Given the description of an element on the screen output the (x, y) to click on. 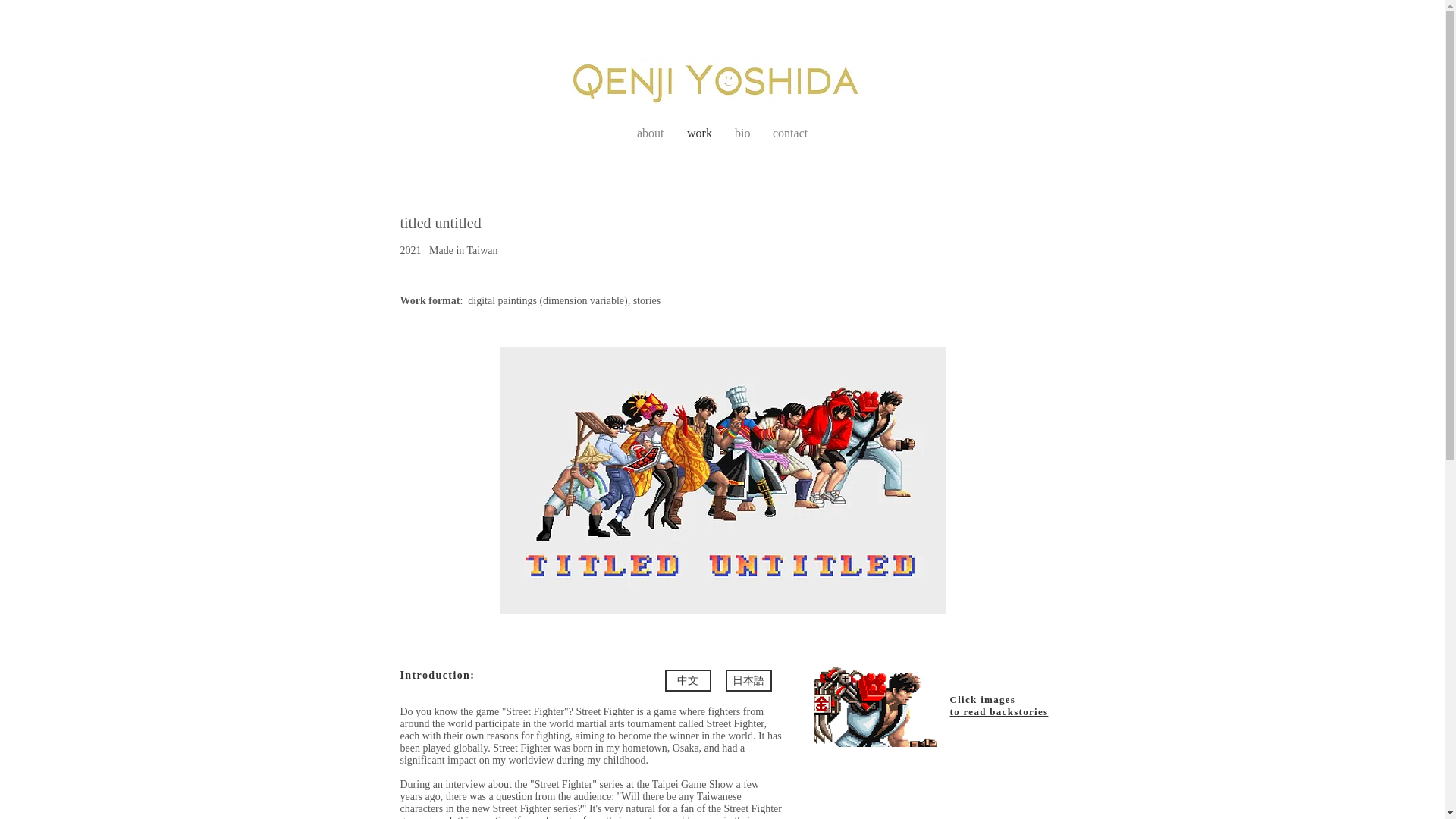
interview (464, 784)
contact (789, 133)
about (650, 133)
bio (742, 133)
work (699, 133)
